Given the description of an element on the screen output the (x, y) to click on. 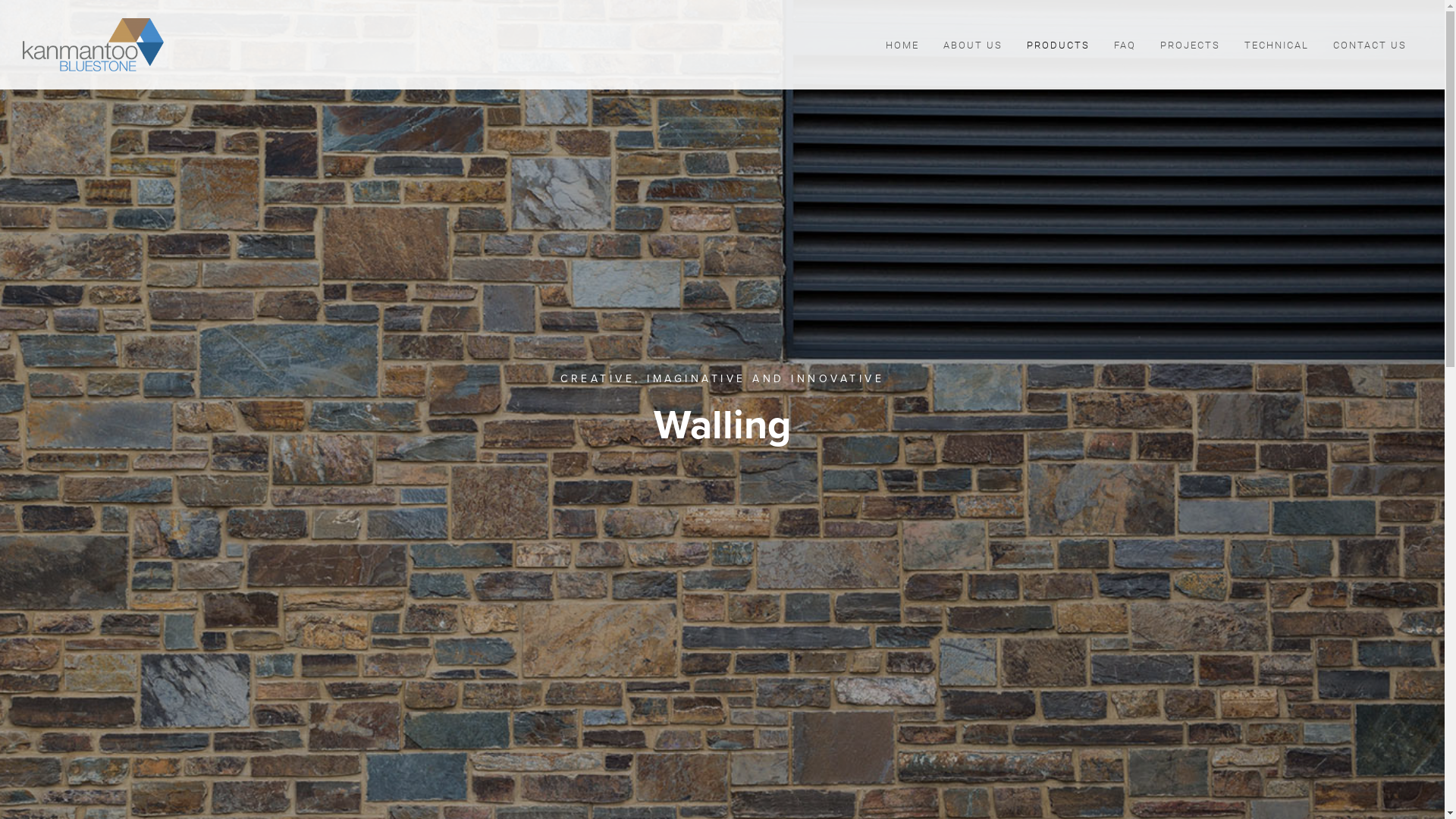
CONTACT US Element type: text (1369, 45)
HOME Element type: text (902, 45)
FAQ Element type: text (1124, 45)
PROJECTS Element type: text (1189, 45)
PRODUCTS Element type: text (1058, 45)
ABOUT US Element type: text (972, 45)
TECHNICAL Element type: text (1276, 45)
